Given the description of an element on the screen output the (x, y) to click on. 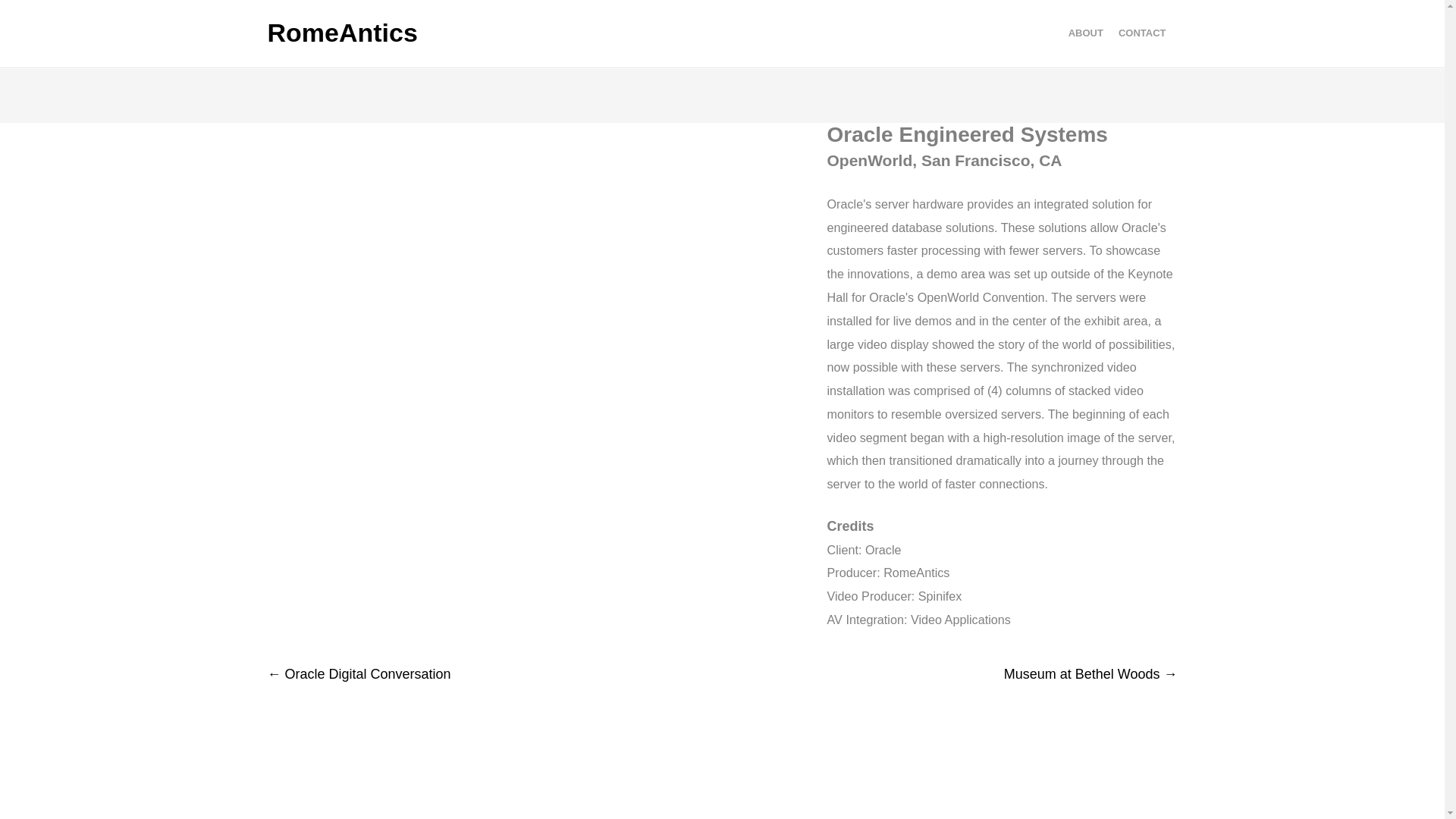
CONTACT (1141, 33)
RomeAntics (341, 33)
